Given the description of an element on the screen output the (x, y) to click on. 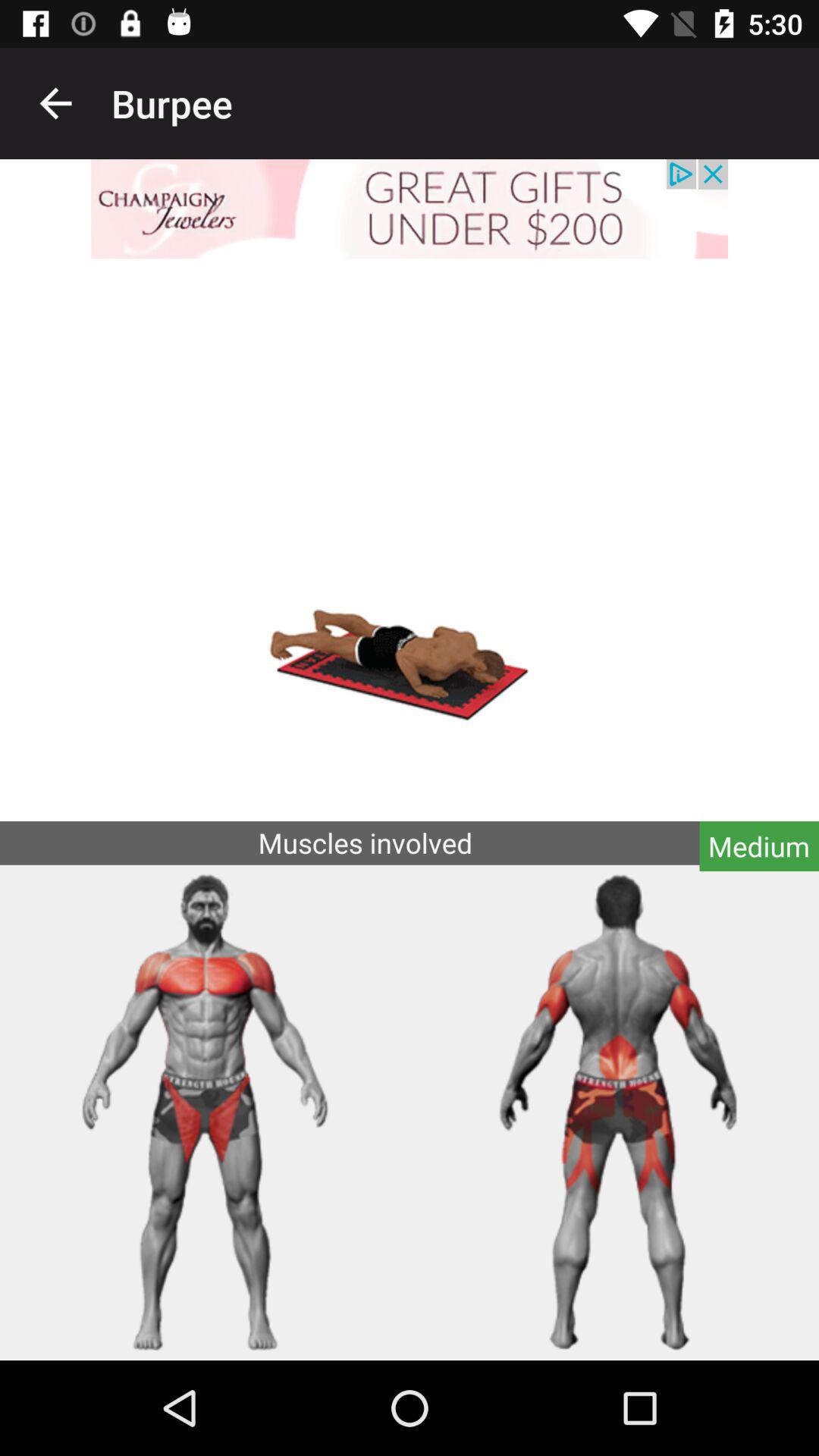
jewelry offer advertisement (409, 208)
